Given the description of an element on the screen output the (x, y) to click on. 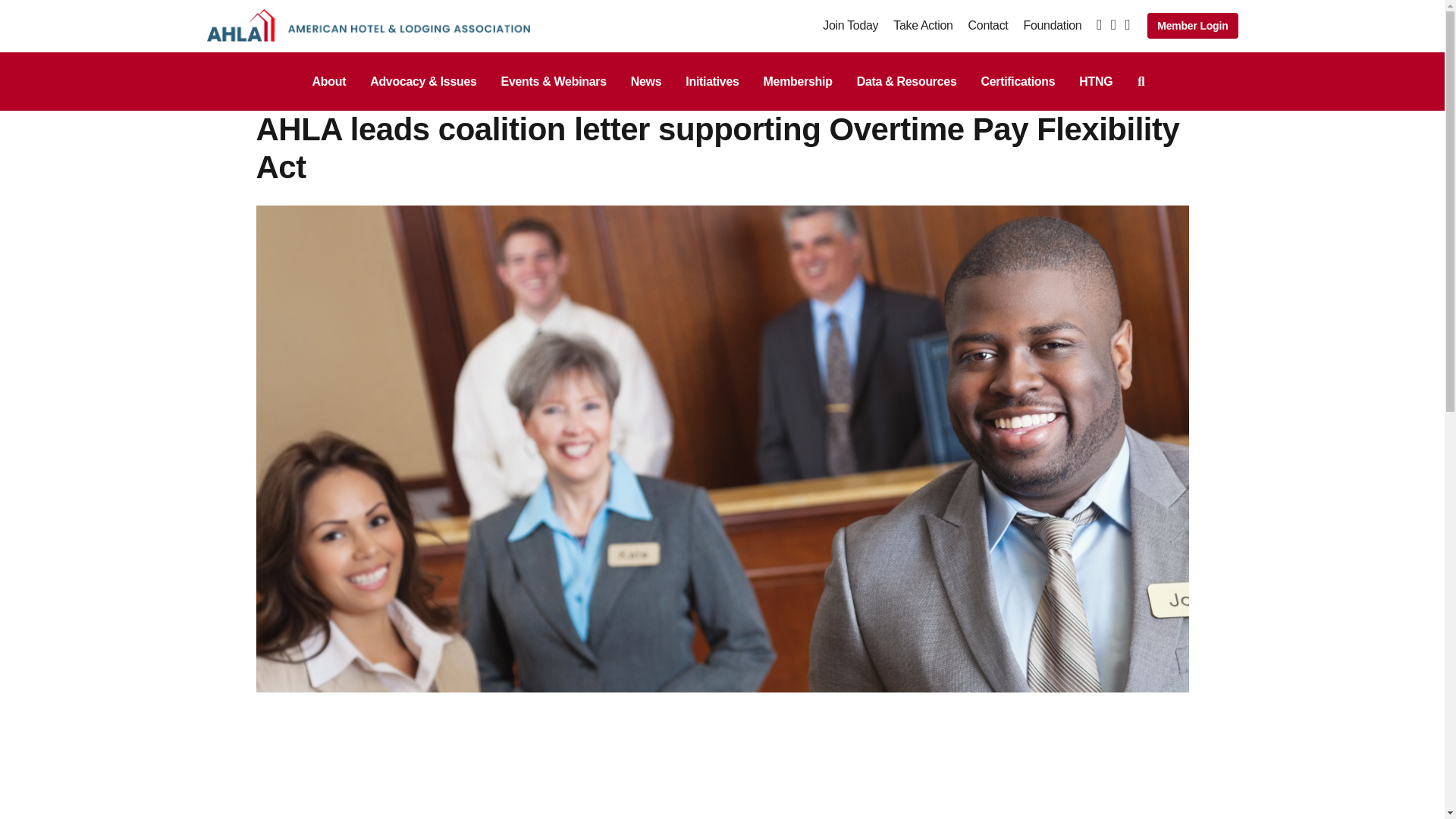
Member Login (1192, 25)
About (329, 81)
Contact (988, 24)
Take Action (922, 24)
Foundation (1052, 24)
Join Today (849, 24)
